Given the description of an element on the screen output the (x, y) to click on. 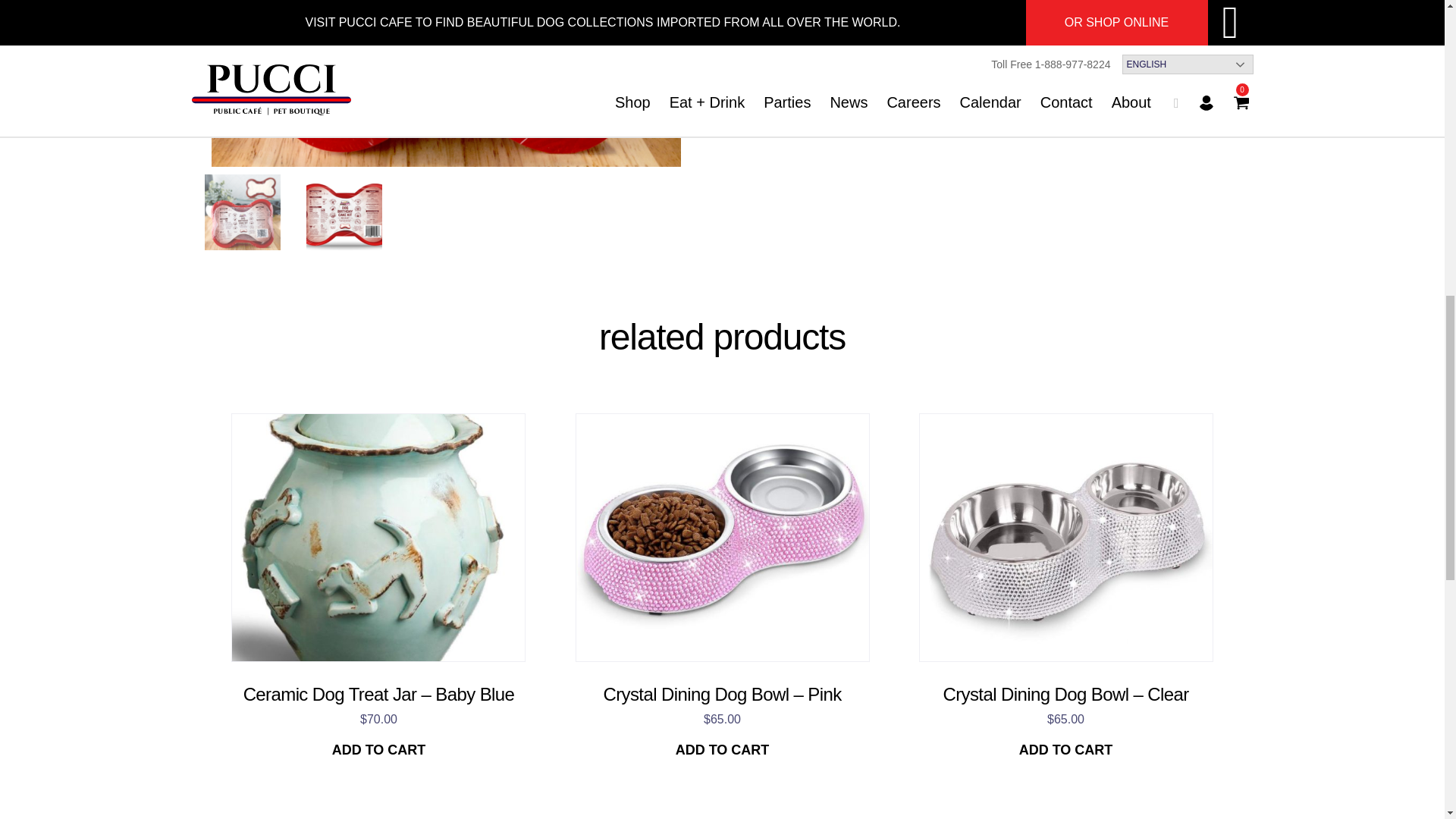
PUCCI Cafe Dog Birthday Cake Kit - Red Velvet 2 (343, 212)
PUCCI Cafe Dog Birthday Cake Kit - Red Velvet (243, 212)
PUCCI Cafe Dog Birthday Cake Kit - Red Velvet (446, 83)
